Given the description of an element on the screen output the (x, y) to click on. 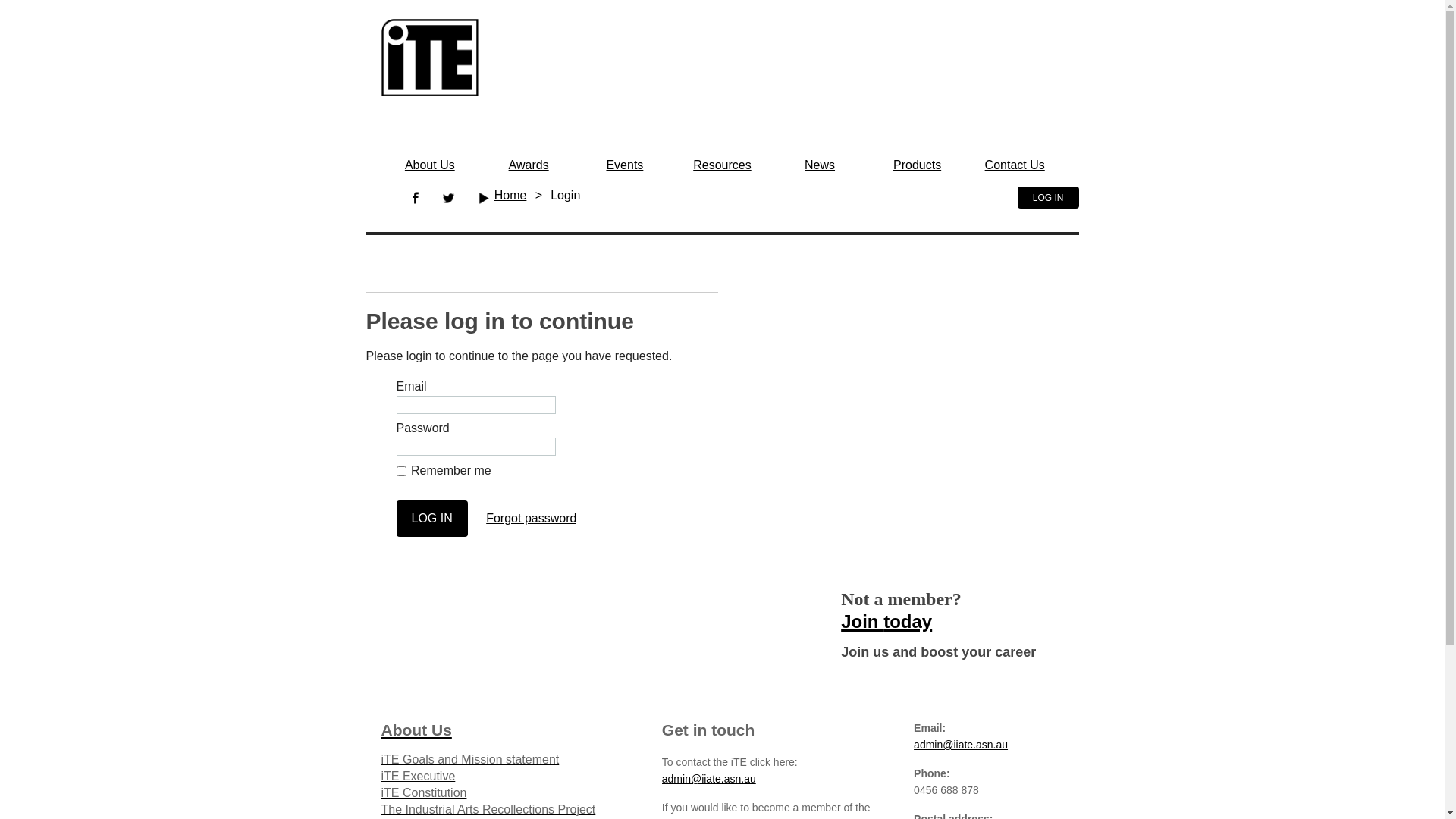
iTE logo May 2019 Element type: hover (429, 57)
About Us Element type: text (415, 727)
YouTube Element type: hover (482, 197)
Contact Us Element type: text (1014, 164)
Facebook Element type: hover (415, 197)
Awards Element type: text (528, 164)
Resources Element type: text (721, 164)
iTE Goals and Mission statement Element type: text (469, 759)
iTE Executive Element type: text (417, 775)
Log in Element type: text (431, 518)
The Industrial Arts Recollections Project Element type: text (487, 809)
Forgot password Element type: text (531, 517)
Products Element type: text (917, 164)
LOG IN Element type: text (1048, 197)
Twitter Element type: hover (448, 197)
About Us Element type: text (429, 164)
iTE Constitution Element type: text (423, 792)
Home Element type: text (510, 194)
Join today Element type: text (885, 617)
News Element type: text (819, 164)
admin@iiate.asn.au Element type: text (960, 744)
Events Element type: text (624, 164)
admin@iiate.asn.au Element type: text (709, 778)
